Given the description of an element on the screen output the (x, y) to click on. 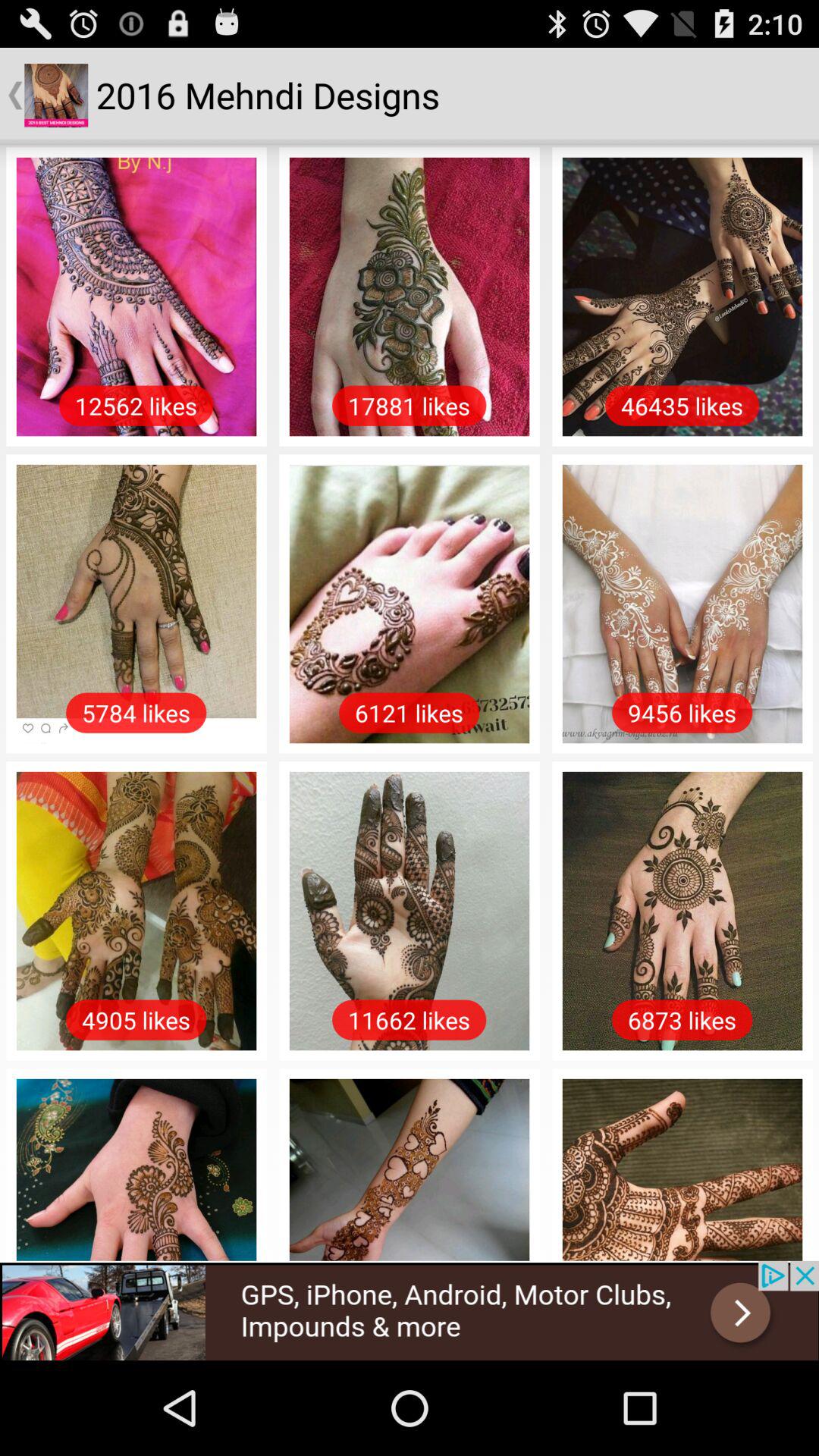
car (409, 1310)
